Given the description of an element on the screen output the (x, y) to click on. 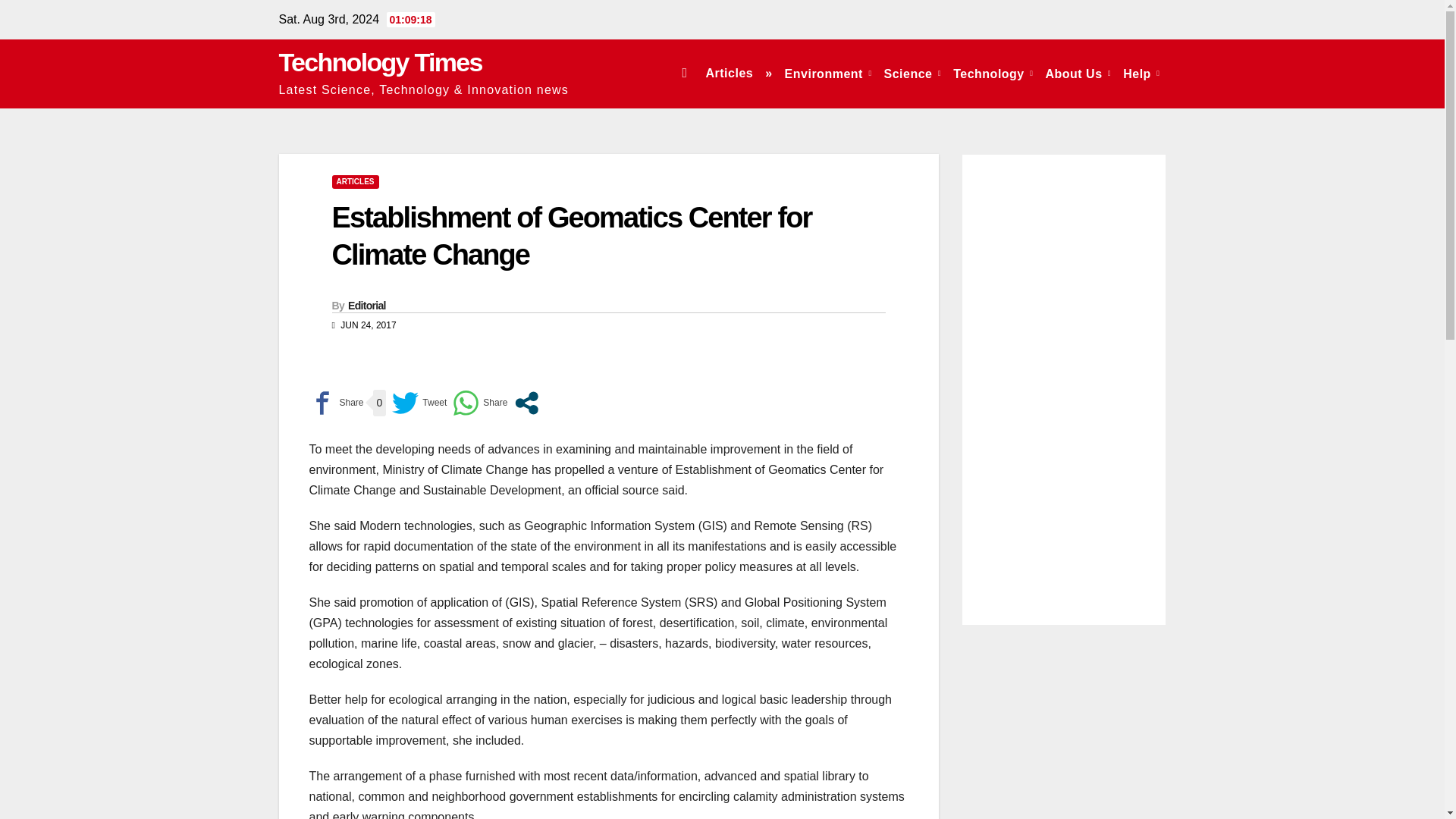
Technology Times (380, 61)
Science (912, 73)
Environment (827, 73)
Technology (993, 73)
Environment (827, 73)
Science (912, 73)
Technology (993, 73)
About Us (1077, 73)
